Given the description of an element on the screen output the (x, y) to click on. 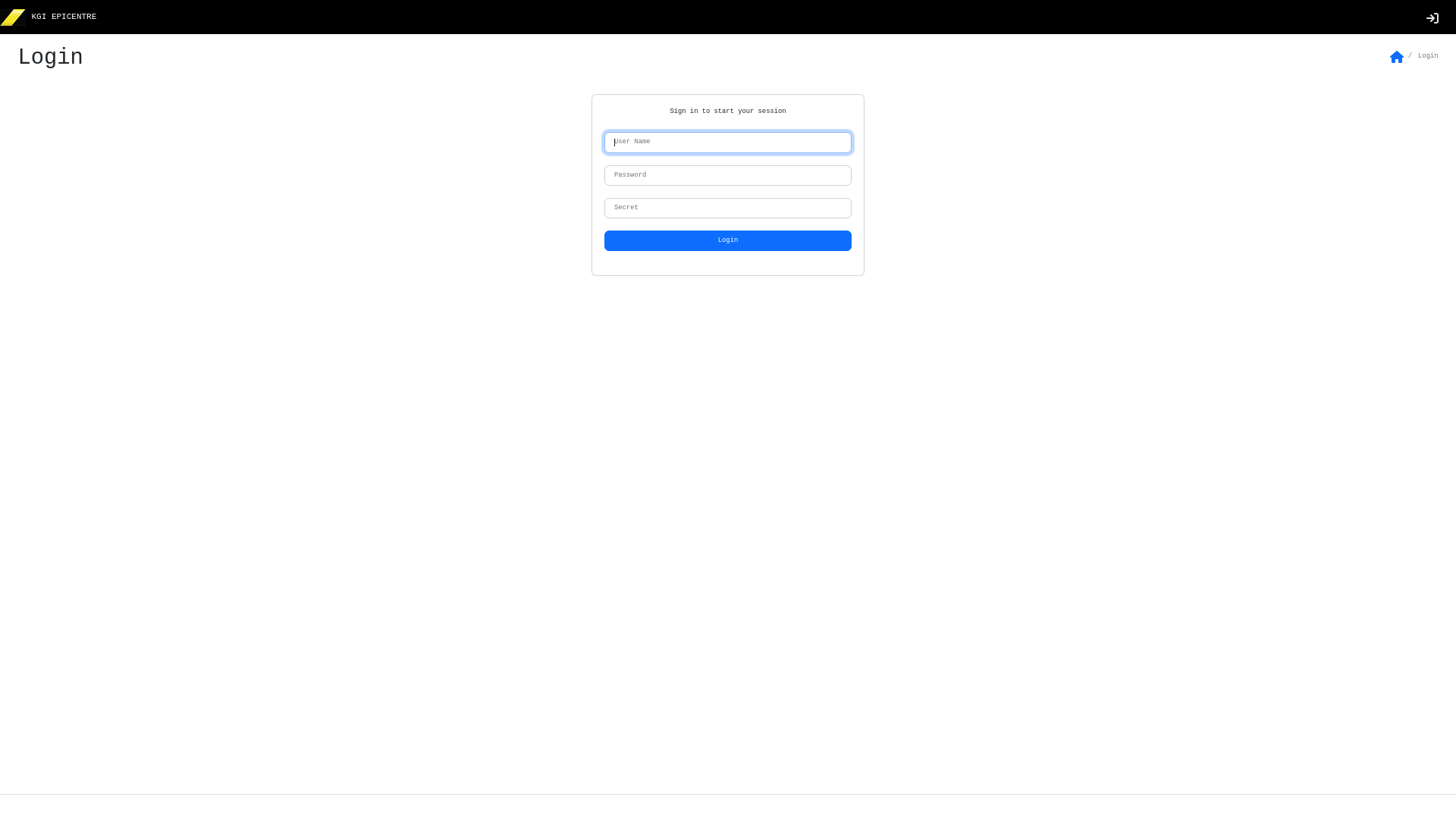
Home Element type: text (1396, 57)
Login Element type: text (727, 240)
Login Element type: text (1431, 17)
KGI EPICENTRE Element type: text (64, 17)
